Given the description of an element on the screen output the (x, y) to click on. 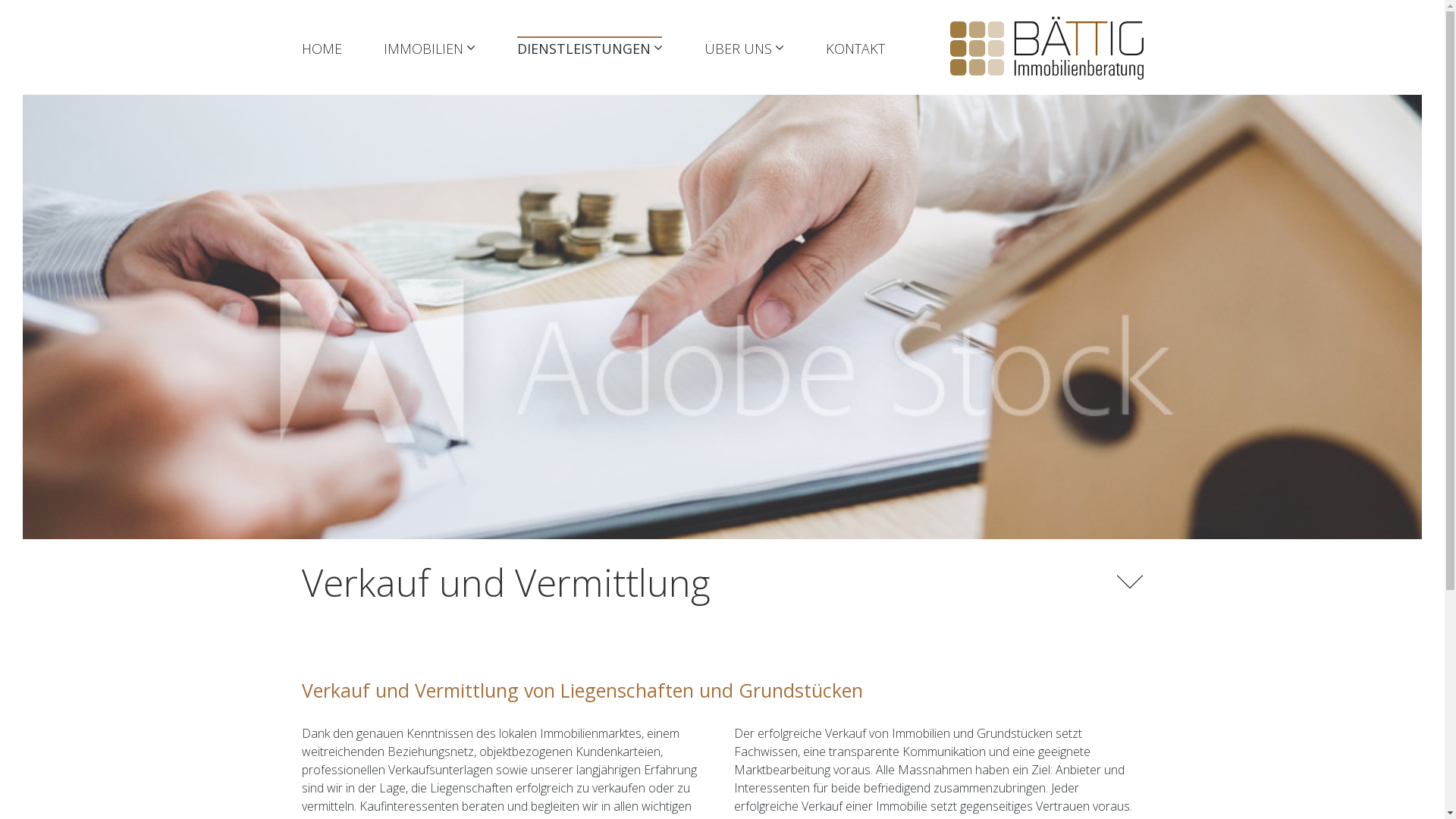
KONTAKT Element type: text (854, 48)
HOME Element type: text (321, 48)
IMMOBILIEN Element type: text (428, 48)
DIENSTLEISTUNGEN Element type: text (589, 48)
